Given the description of an element on the screen output the (x, y) to click on. 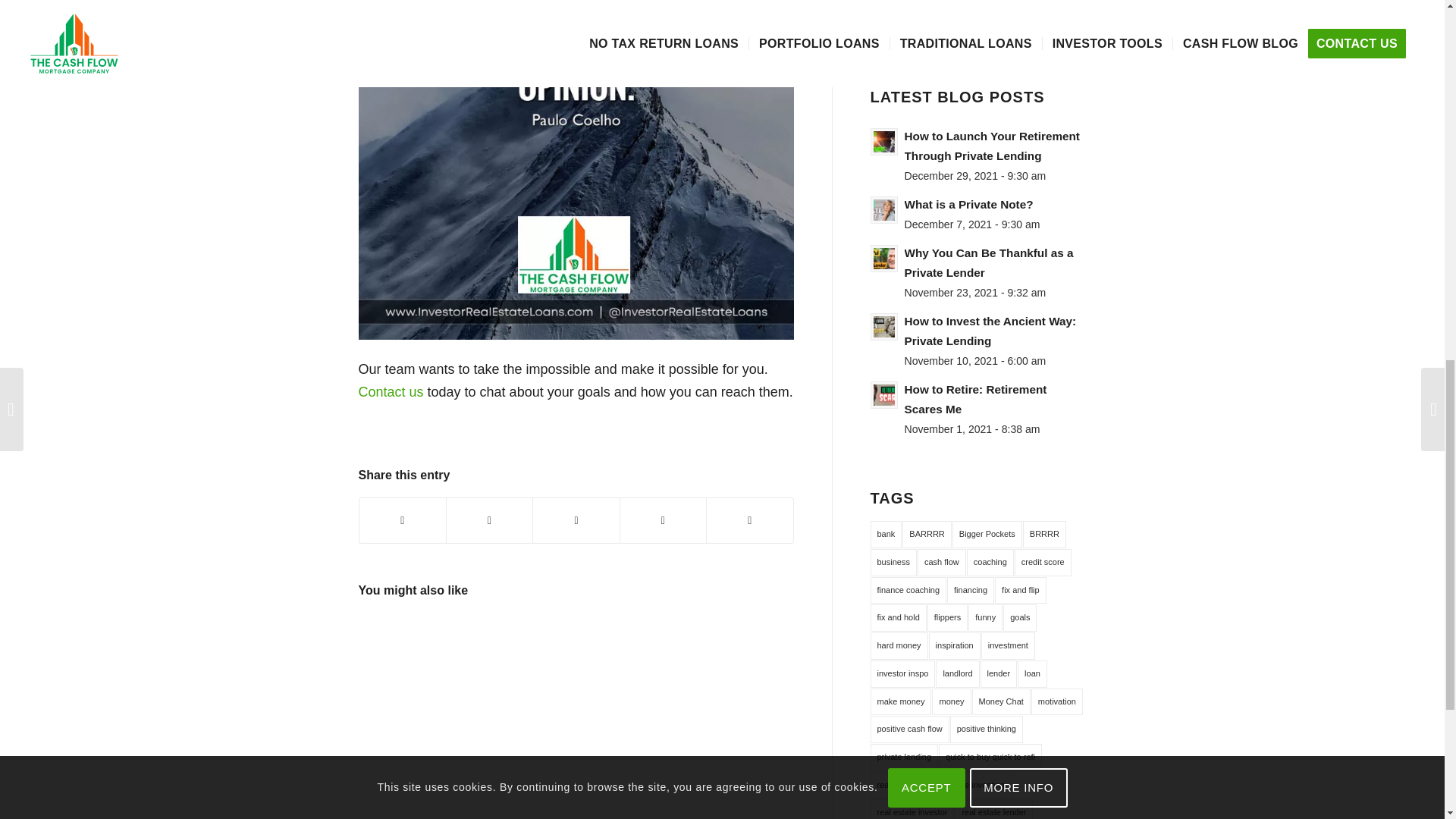
How To Buy 3 New Rental Properties This Year (412, 666)
Motivational Monday - Dream Big (520, 666)
Contact us (390, 391)
5 Ways to Find Wholesale Leads and Deals (628, 666)
